Given the description of an element on the screen output the (x, y) to click on. 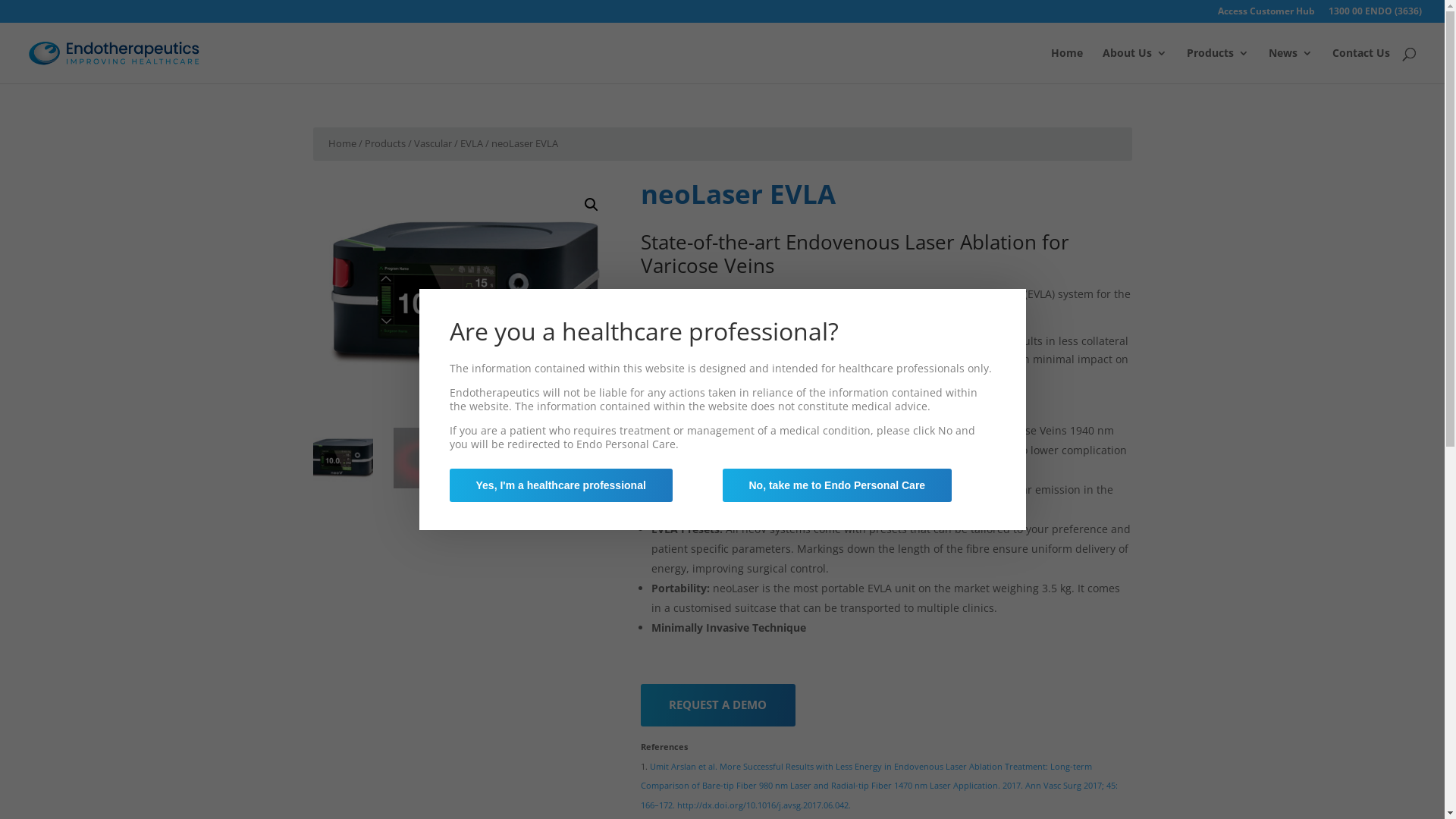
REQUEST A DEMO Element type: text (717, 705)
News Element type: text (1290, 65)
Contact Us Element type: text (1361, 65)
Home Element type: text (341, 143)
Products Element type: text (384, 143)
EVLA Element type: text (470, 143)
1300 00 ENDO (3636) Element type: text (1374, 14)
Access Customer Hub Element type: text (1265, 14)
Products Element type: text (1217, 65)
Home Element type: text (1066, 65)
No, take me to Endo Personal Care Element type: text (836, 485)
Search Element type: text (1288, 67)
neoLaser EVLA_Hero Element type: hover (463, 293)
Vascular Element type: text (432, 143)
Yes, I'm a healthcare professional Element type: text (559, 485)
About Us Element type: text (1134, 65)
